Given the description of an element on the screen output the (x, y) to click on. 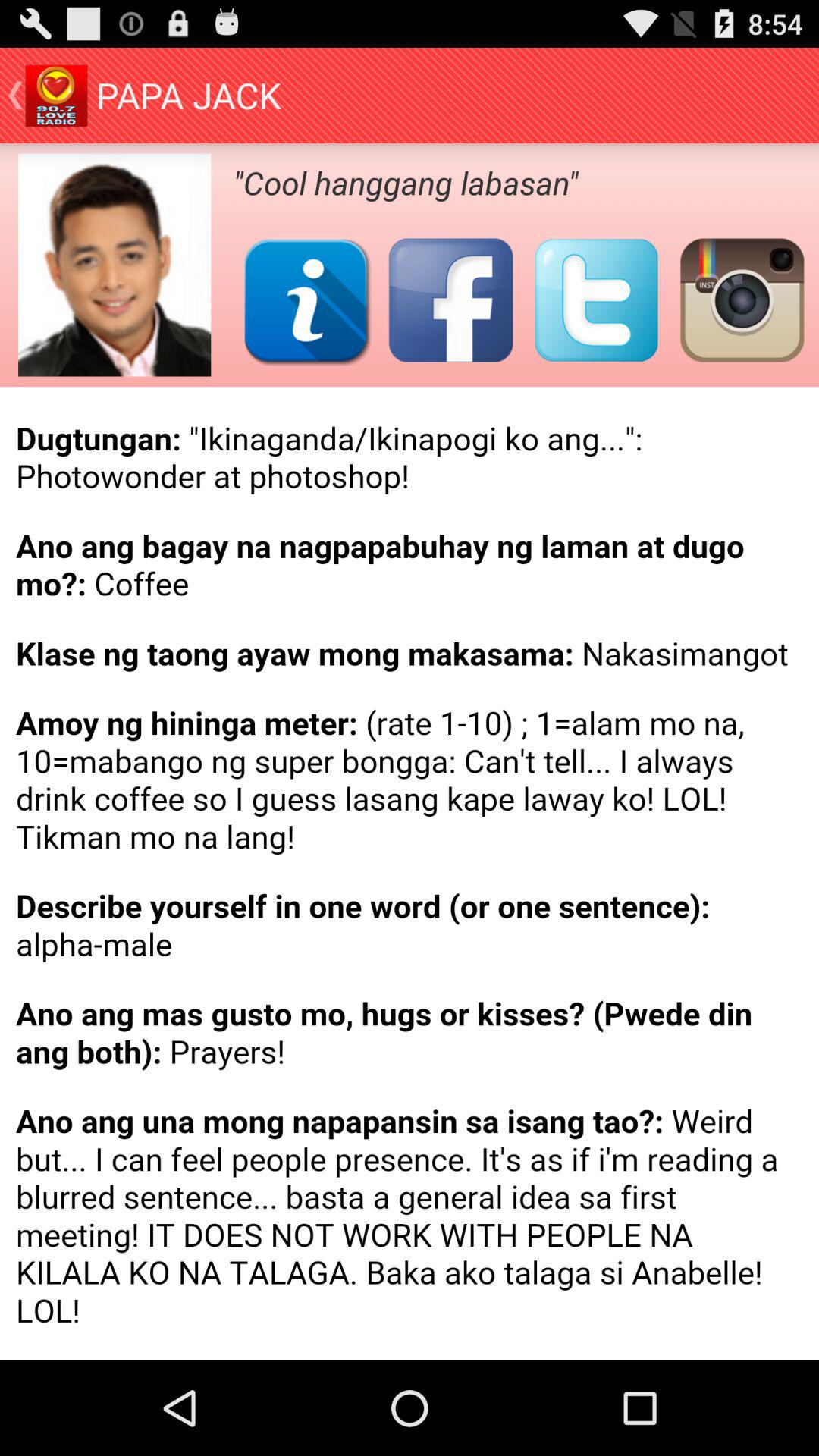
connect to facebook (450, 299)
